Given the description of an element on the screen output the (x, y) to click on. 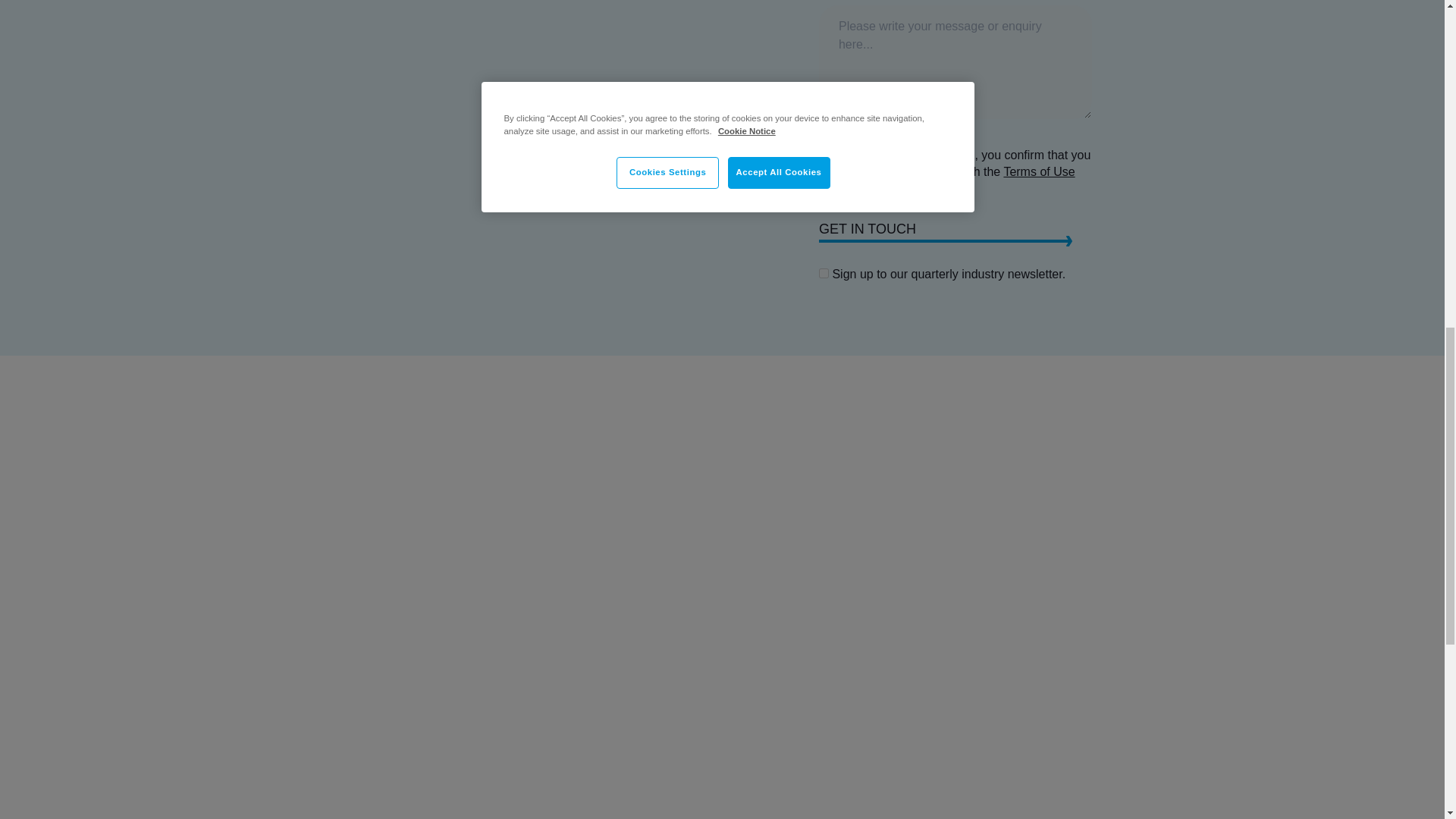
Privacy Policy (900, 187)
Terms of Use (1038, 171)
GET IN TOUCH (955, 231)
1 (823, 273)
